Given the description of an element on the screen output the (x, y) to click on. 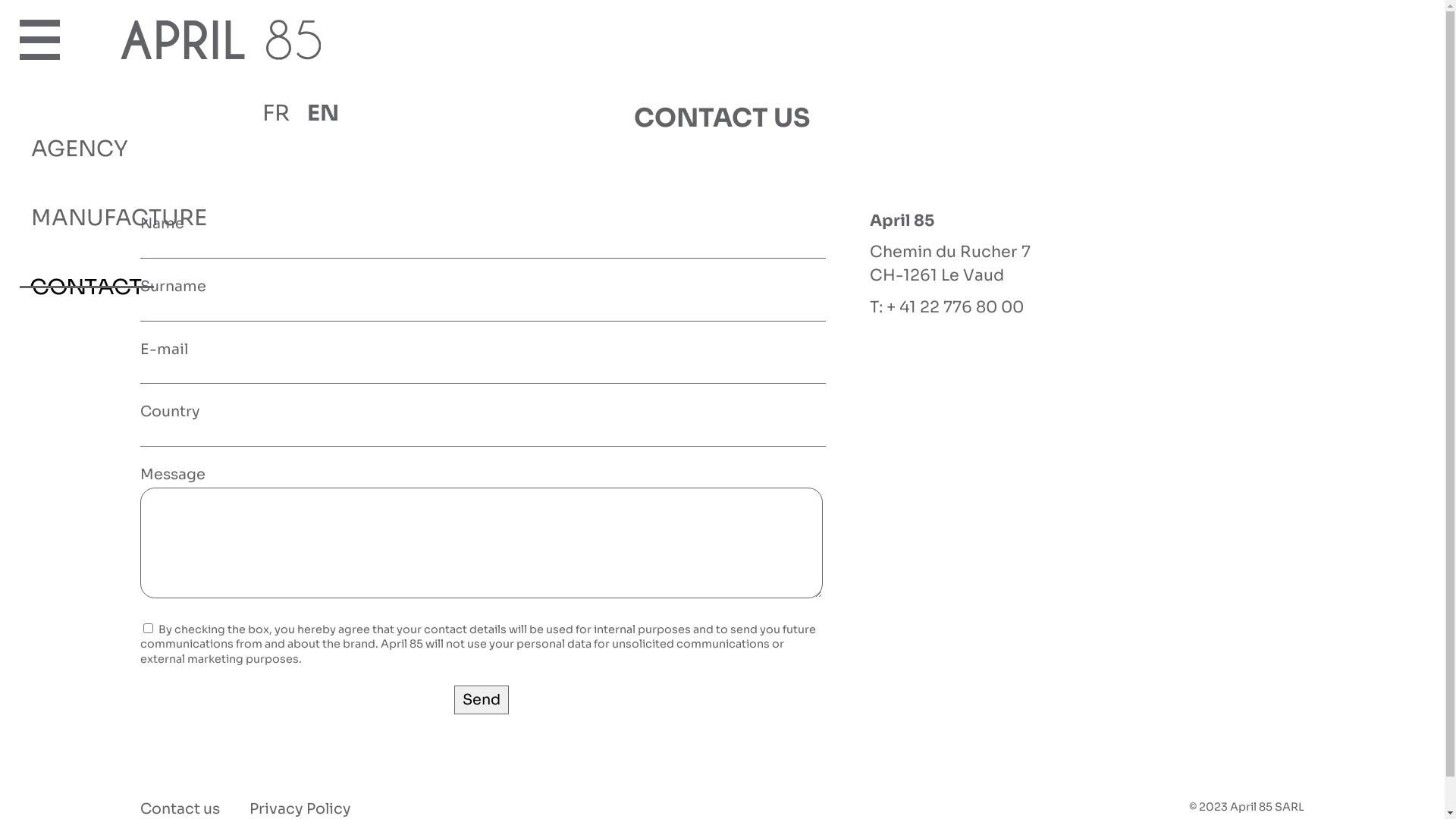
Privacy Policy Element type: text (300, 808)
Send Element type: text (481, 699)
FR Element type: text (280, 113)
AGENCY Element type: text (78, 159)
Contact us Element type: text (179, 808)
MANUFACTURE Element type: text (118, 229)
EN Element type: text (318, 113)
CONTACT Element type: text (86, 298)
